Given the description of an element on the screen output the (x, y) to click on. 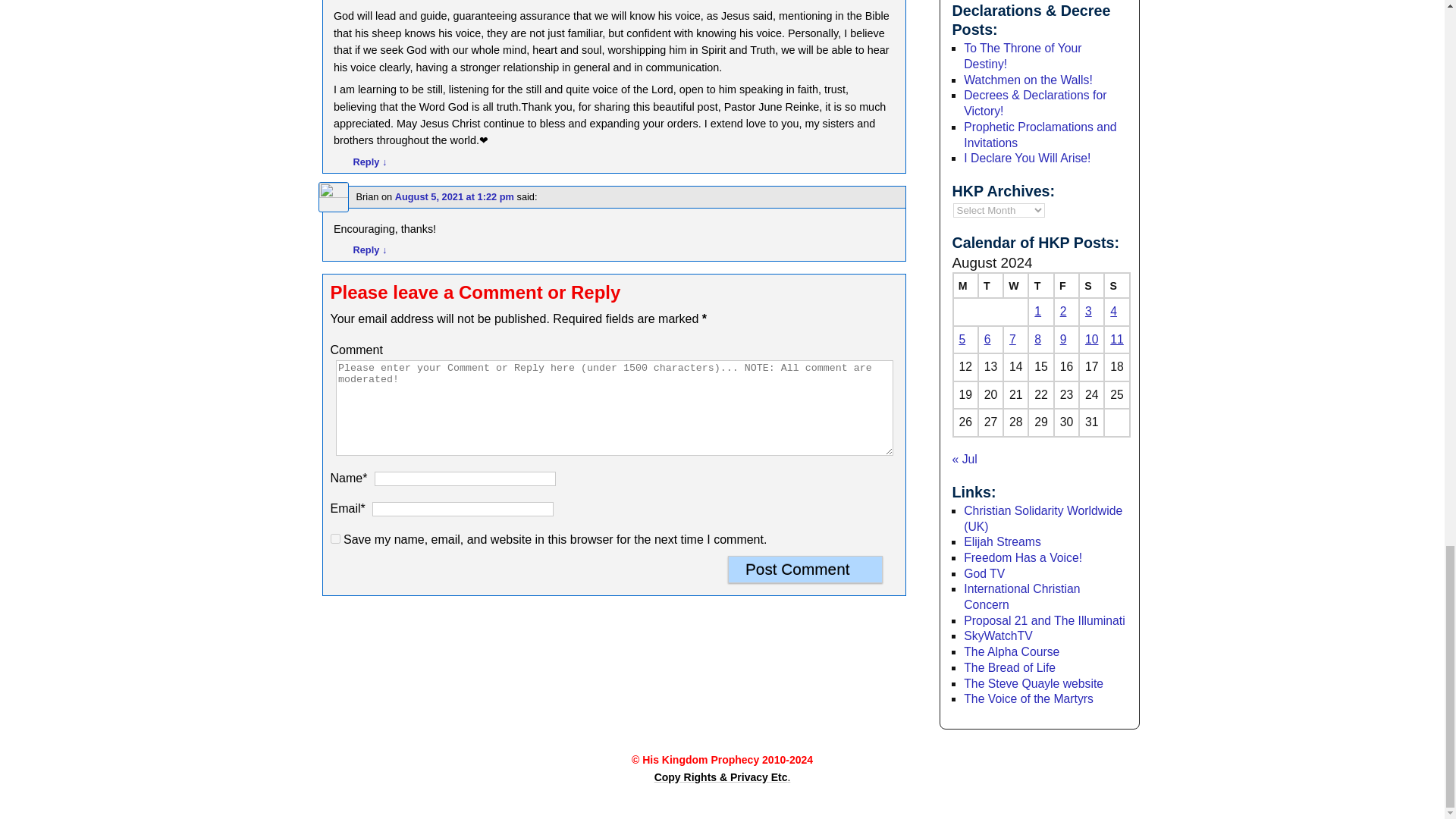
yes (335, 538)
Thursday (1039, 285)
Tuesday (990, 285)
Saturday (1090, 285)
Monday (964, 285)
Friday (1066, 285)
Wednesday (1015, 285)
Post Comment (805, 569)
